Given the description of an element on the screen output the (x, y) to click on. 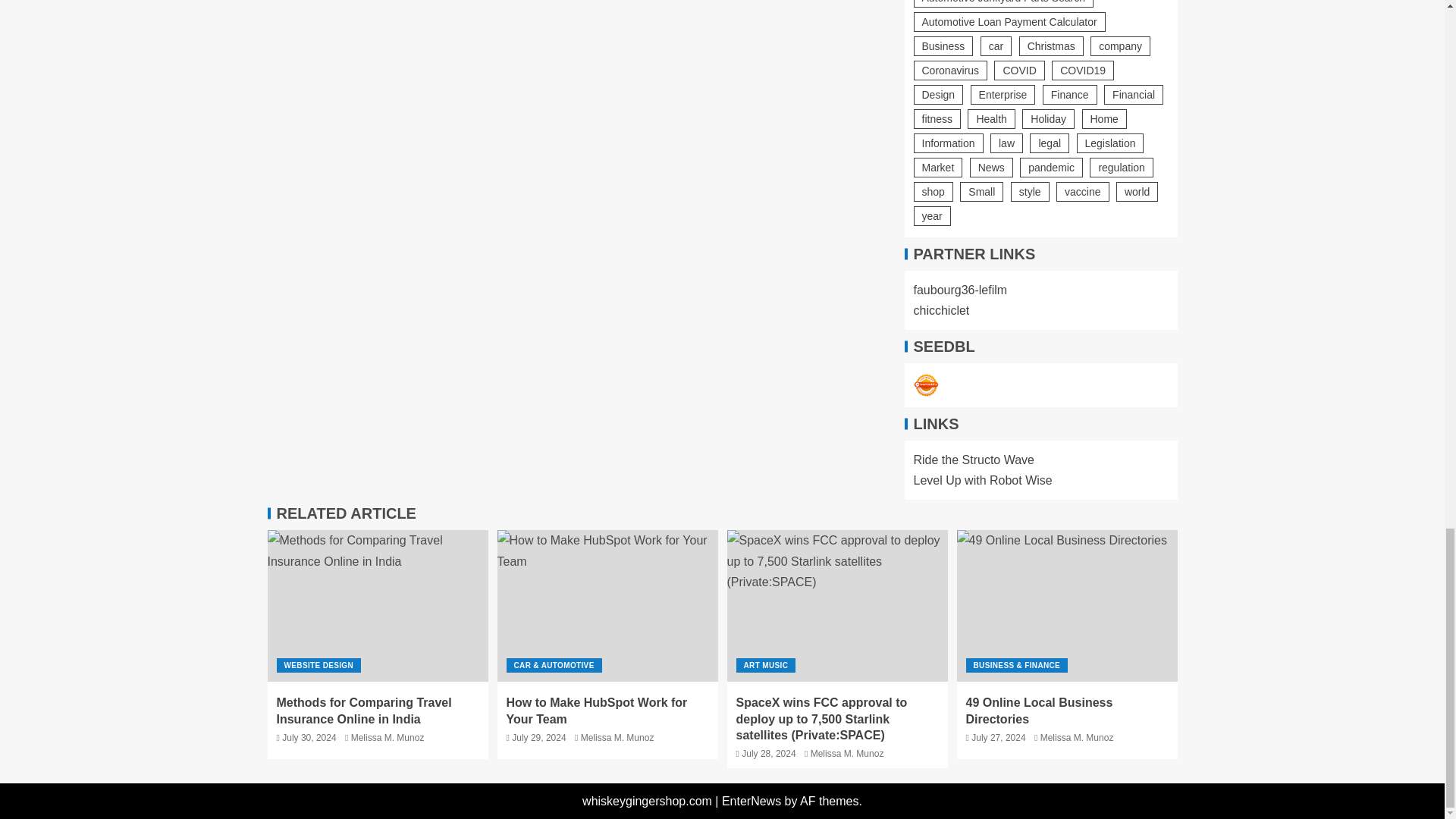
49 Online Local Business Directories (1066, 605)
How to Make HubSpot Work for Your Team (607, 605)
Methods for Comparing Travel Insurance Online in India (376, 605)
Seedbacklink (925, 385)
